Given the description of an element on the screen output the (x, y) to click on. 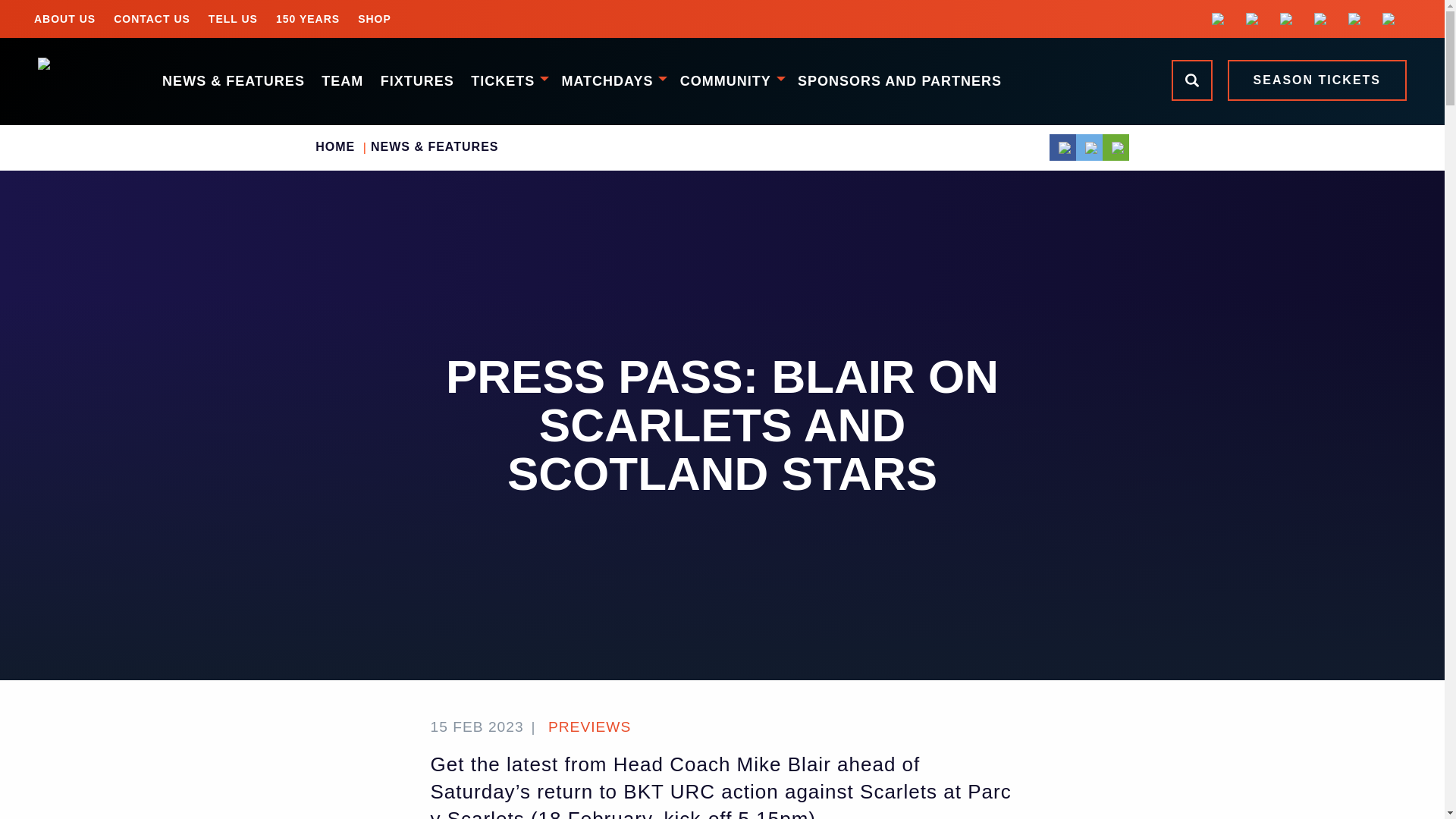
FIXTURES (416, 80)
TEAM (342, 80)
SPONSORS AND PARTNERS (899, 80)
TELL US (232, 18)
MATCHDAYS (612, 80)
COMMUNITY (730, 80)
ABOUT US (64, 18)
Home (84, 81)
SHOP (374, 18)
TICKETS (508, 80)
